Given the description of an element on the screen output the (x, y) to click on. 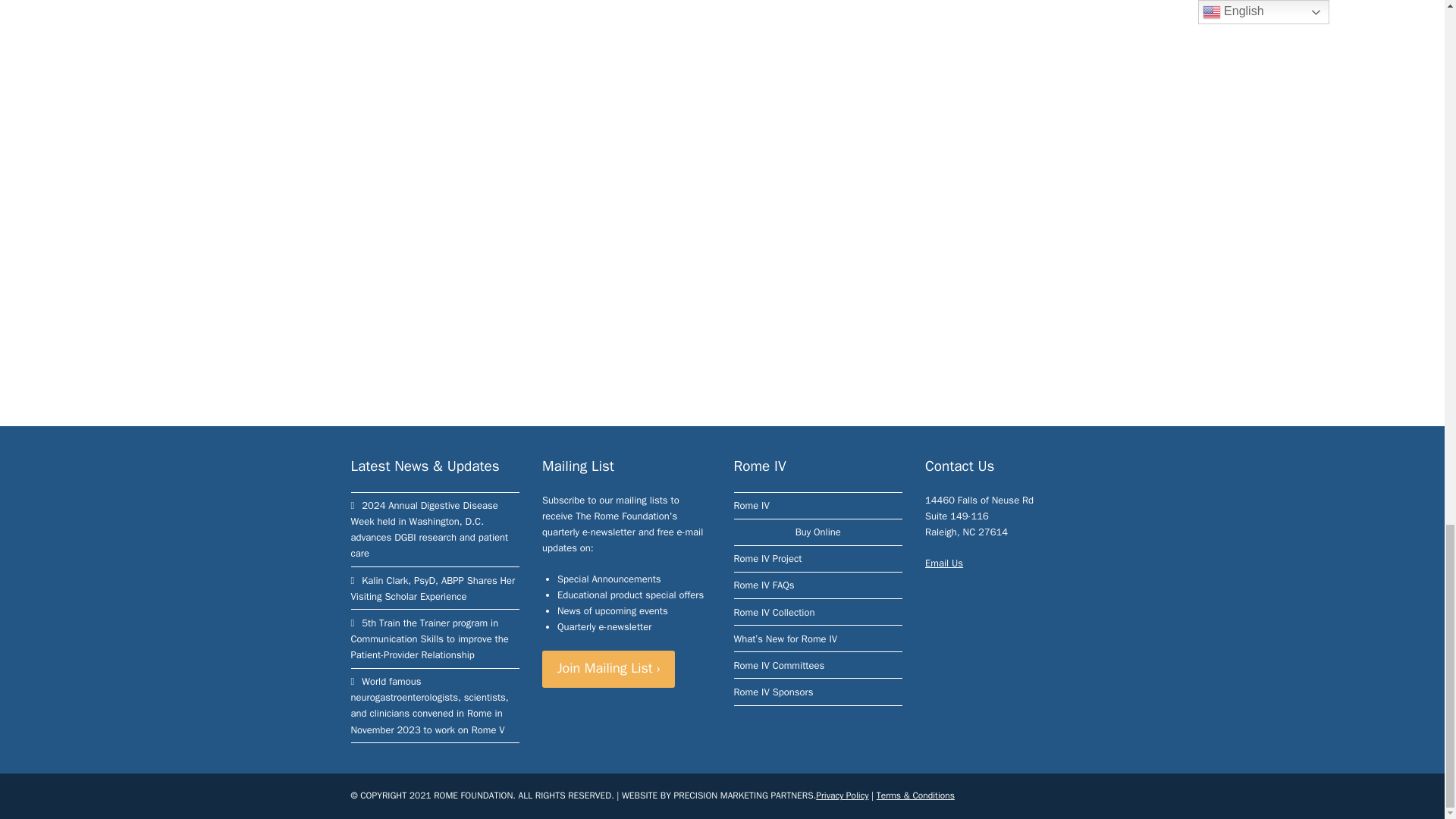
Join Mailing List (608, 668)
